Given the description of an element on the screen output the (x, y) to click on. 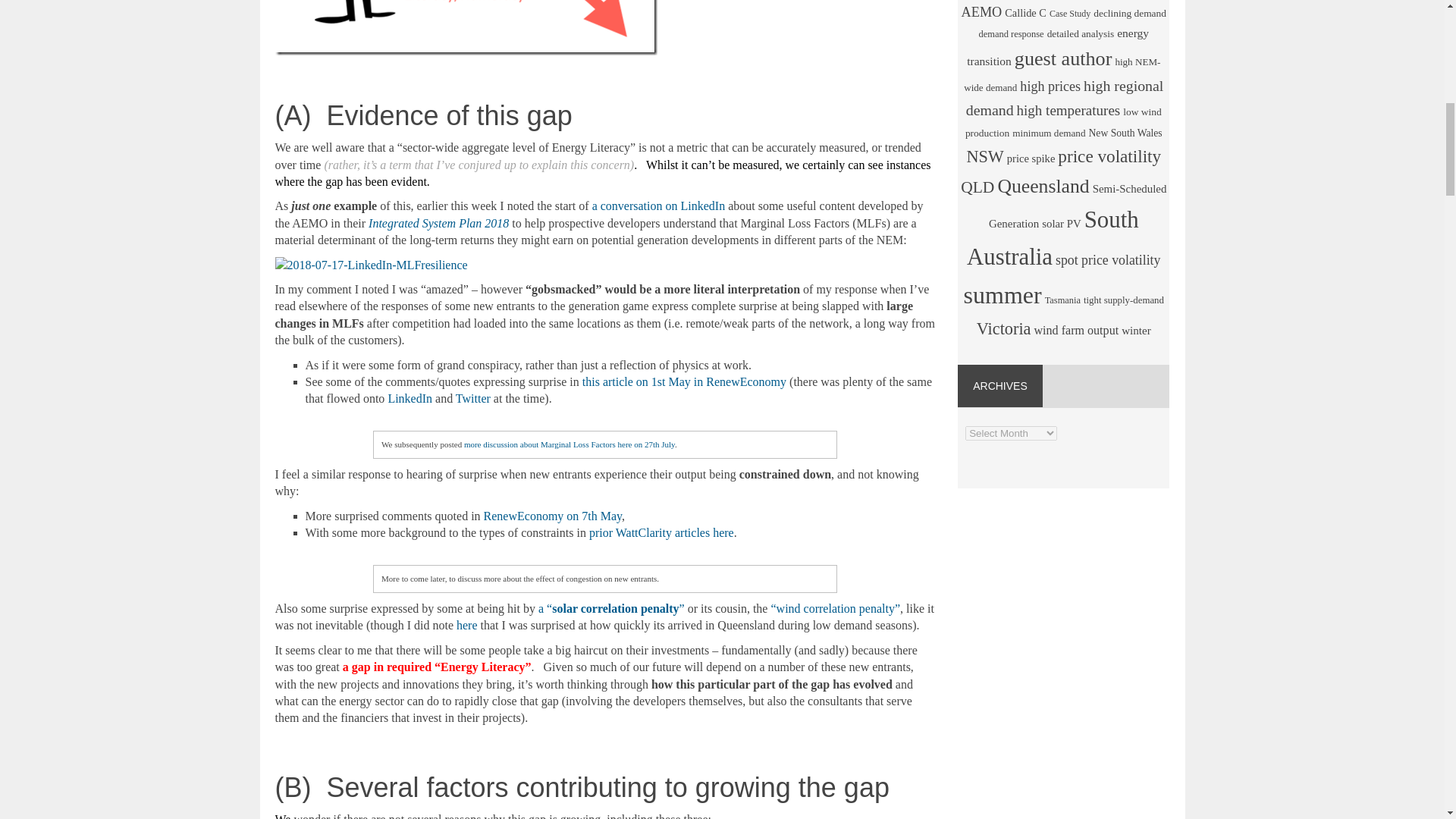
Twitter (472, 398)
Integrated System Plan 2018 (438, 223)
RenewEconomy on 7th May (552, 515)
a conversation on LinkedIn (658, 205)
56 topics (1069, 13)
2018-07-17-LinkedIn-MLFresilience (371, 265)
this article on 1st May in RenewEconomy (684, 381)
135 topics (981, 11)
prior WattClarity articles here (661, 532)
LinkedIn (409, 398)
